Given the description of an element on the screen output the (x, y) to click on. 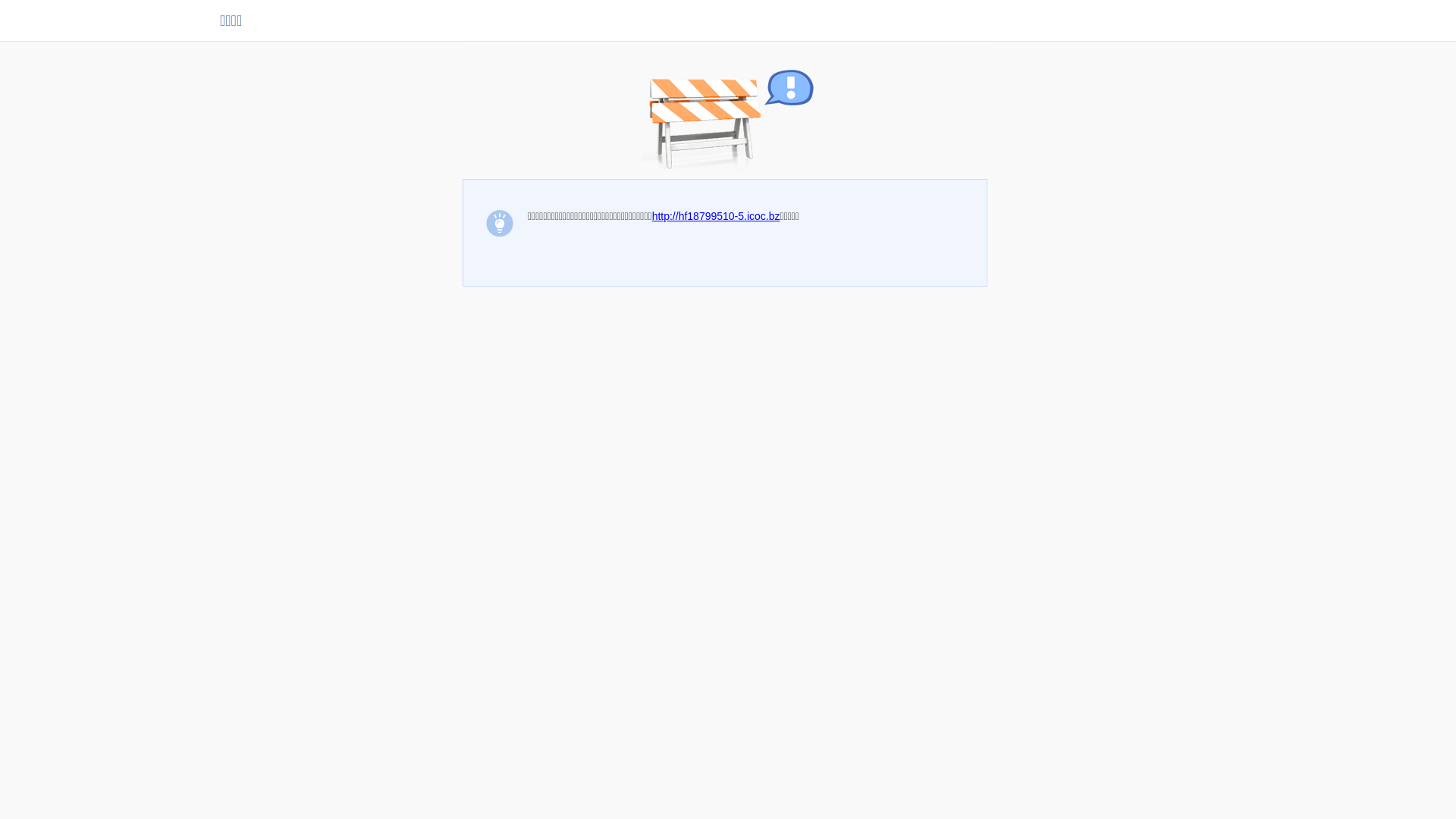
http://hf18799510-5.icoc.bz Element type: text (716, 216)
